Given the description of an element on the screen output the (x, y) to click on. 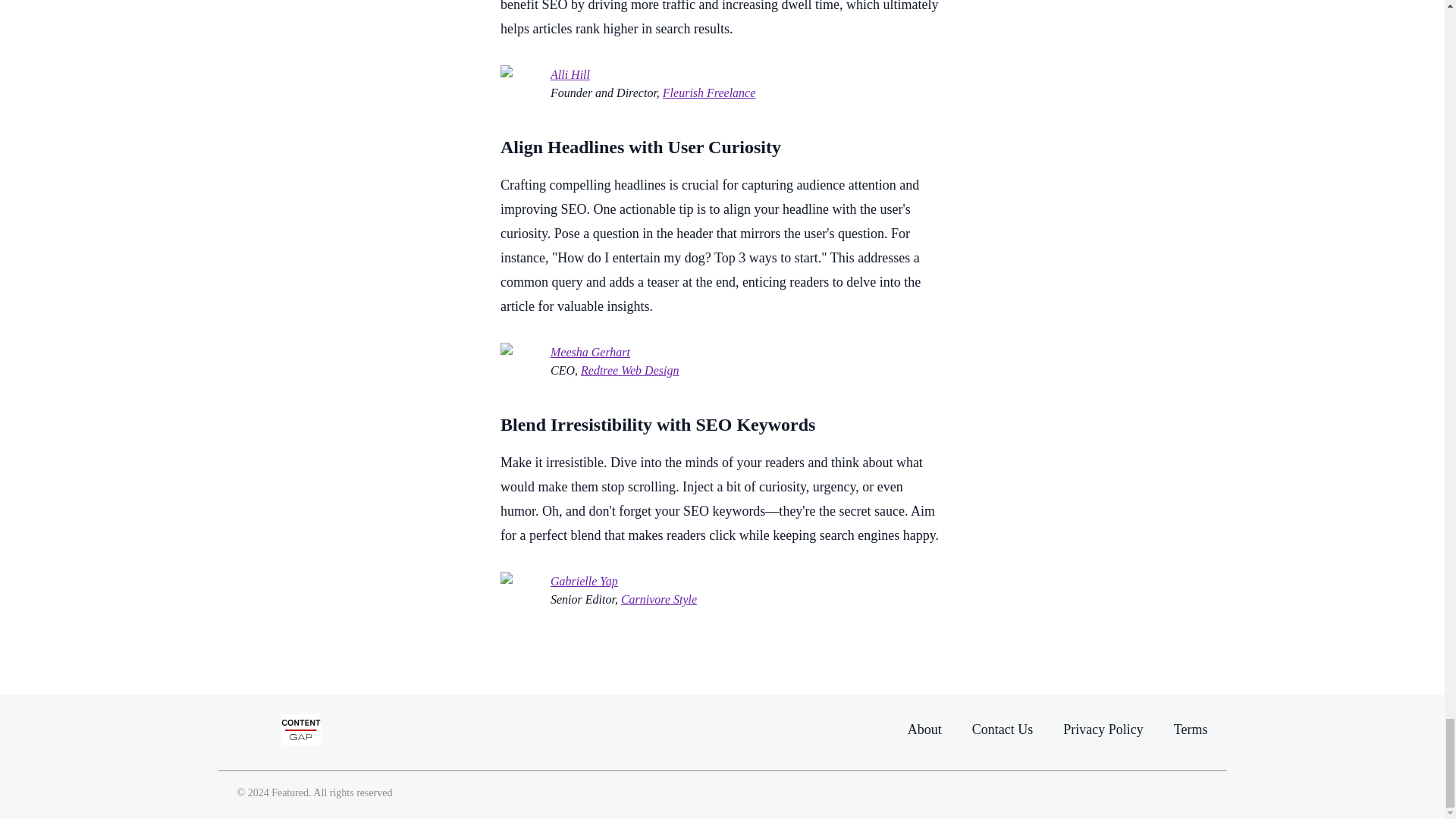
Carnivore Style (659, 599)
Gabrielle Yap (583, 581)
Fleurish Freelance (708, 93)
Alli Hill (569, 75)
Redtree Web Design (629, 370)
Meesha Gerhart (590, 352)
